Given the description of an element on the screen output the (x, y) to click on. 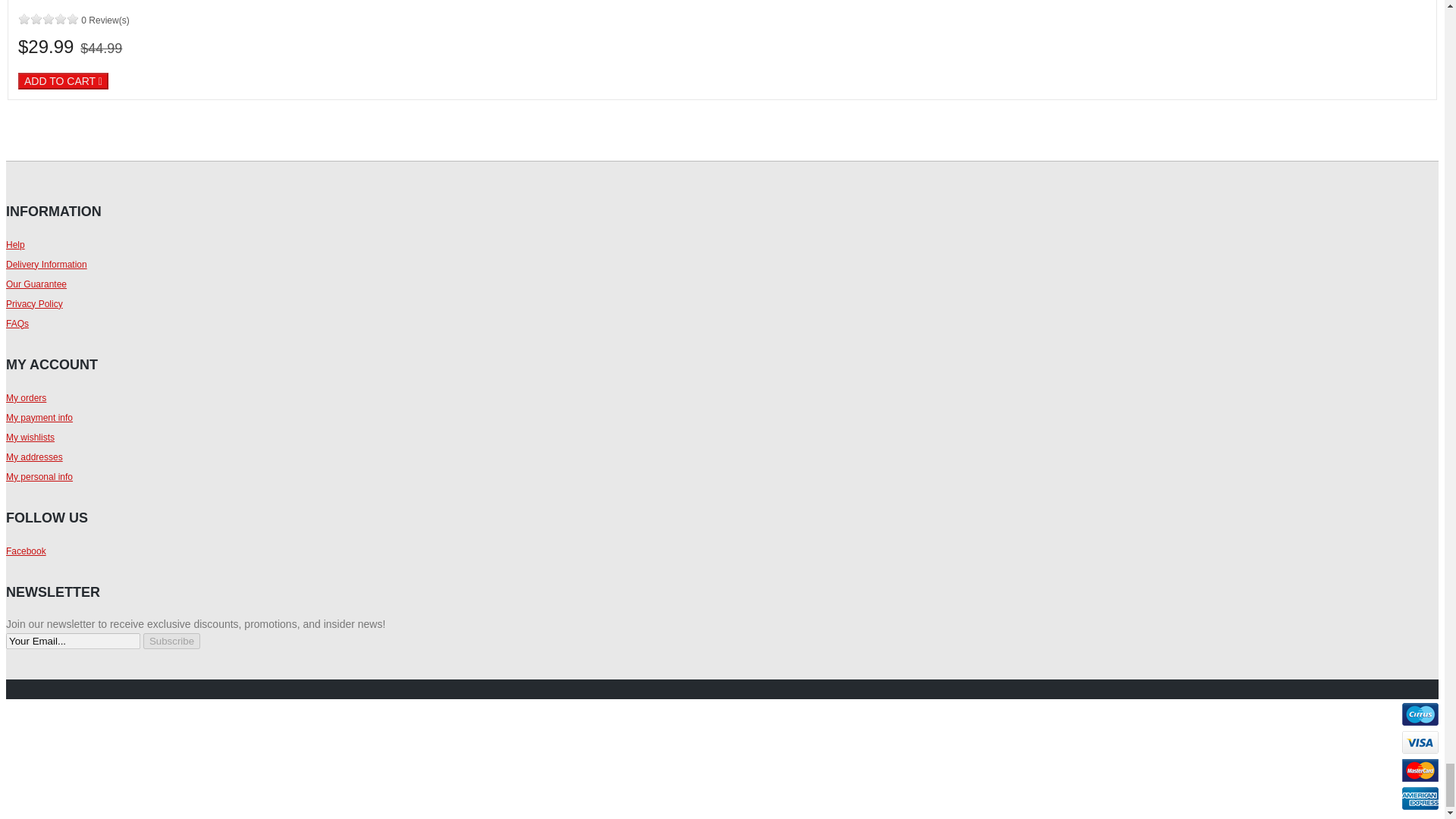
Your Email... (72, 641)
Subscribe (171, 641)
